Given the description of an element on the screen output the (x, y) to click on. 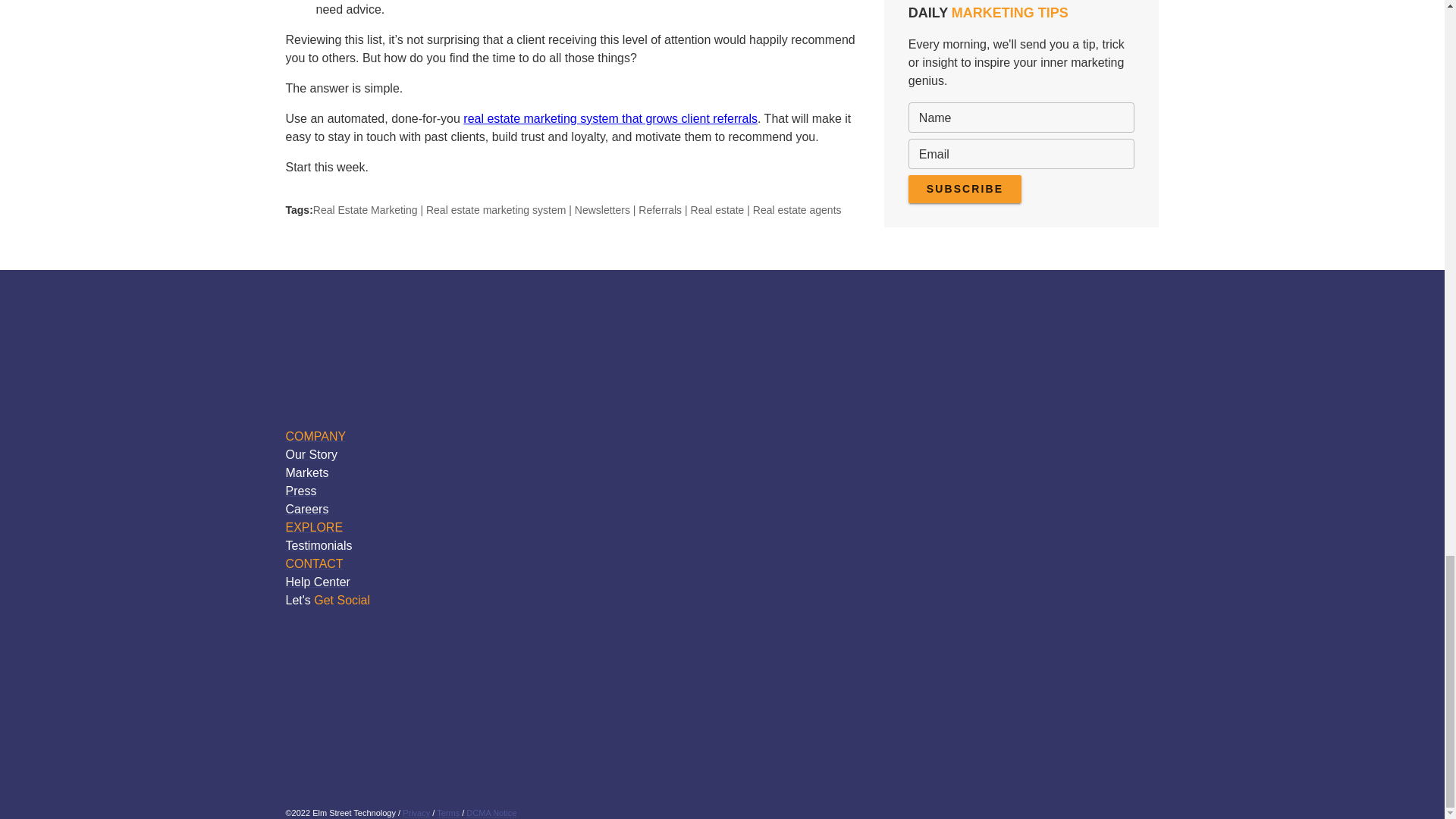
real estate marketing system that grows client referrals (610, 118)
SUBSCRIBE (965, 189)
